Given the description of an element on the screen output the (x, y) to click on. 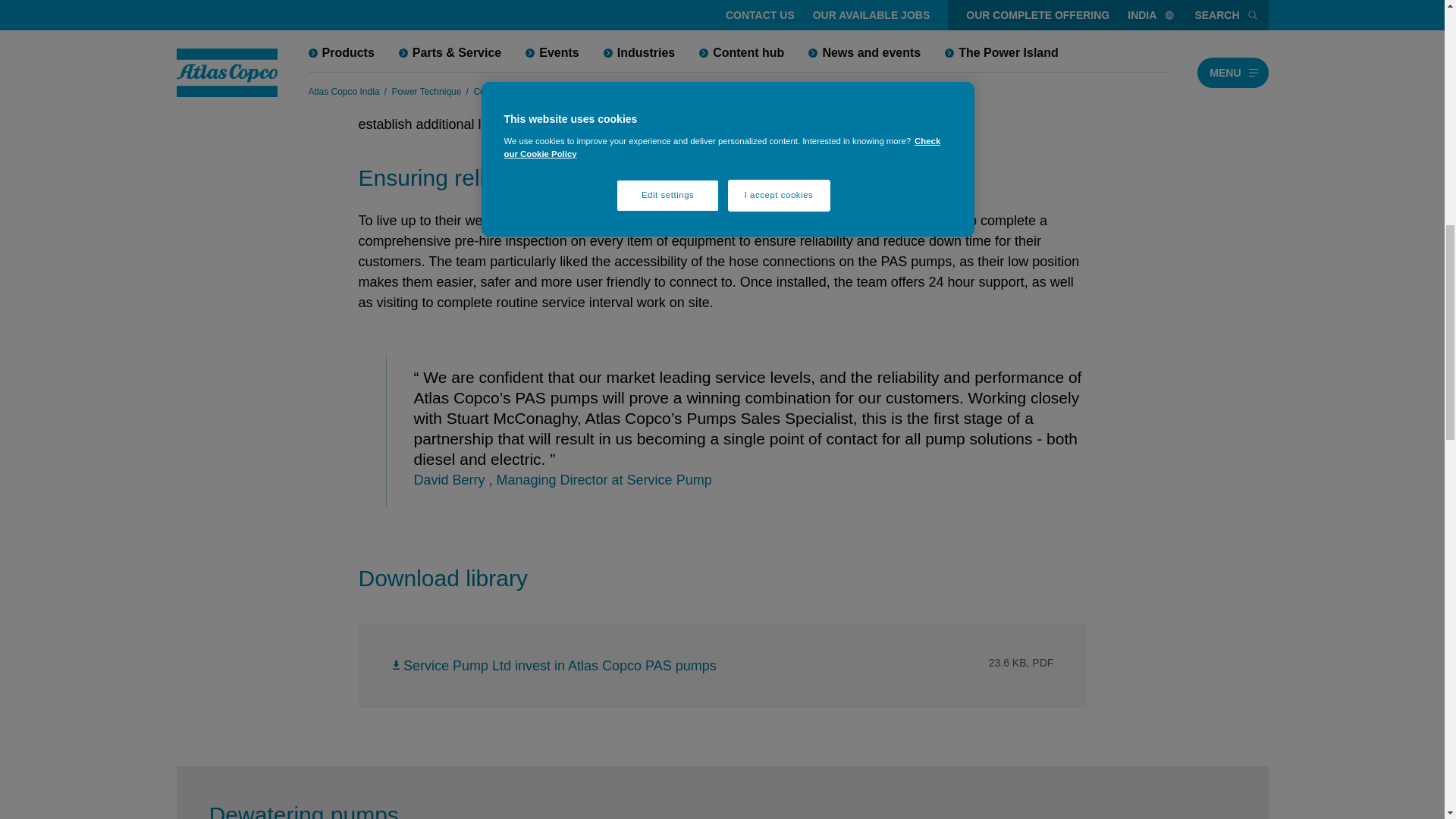
explainer icon (269, 388)
